Given the description of an element on the screen output the (x, y) to click on. 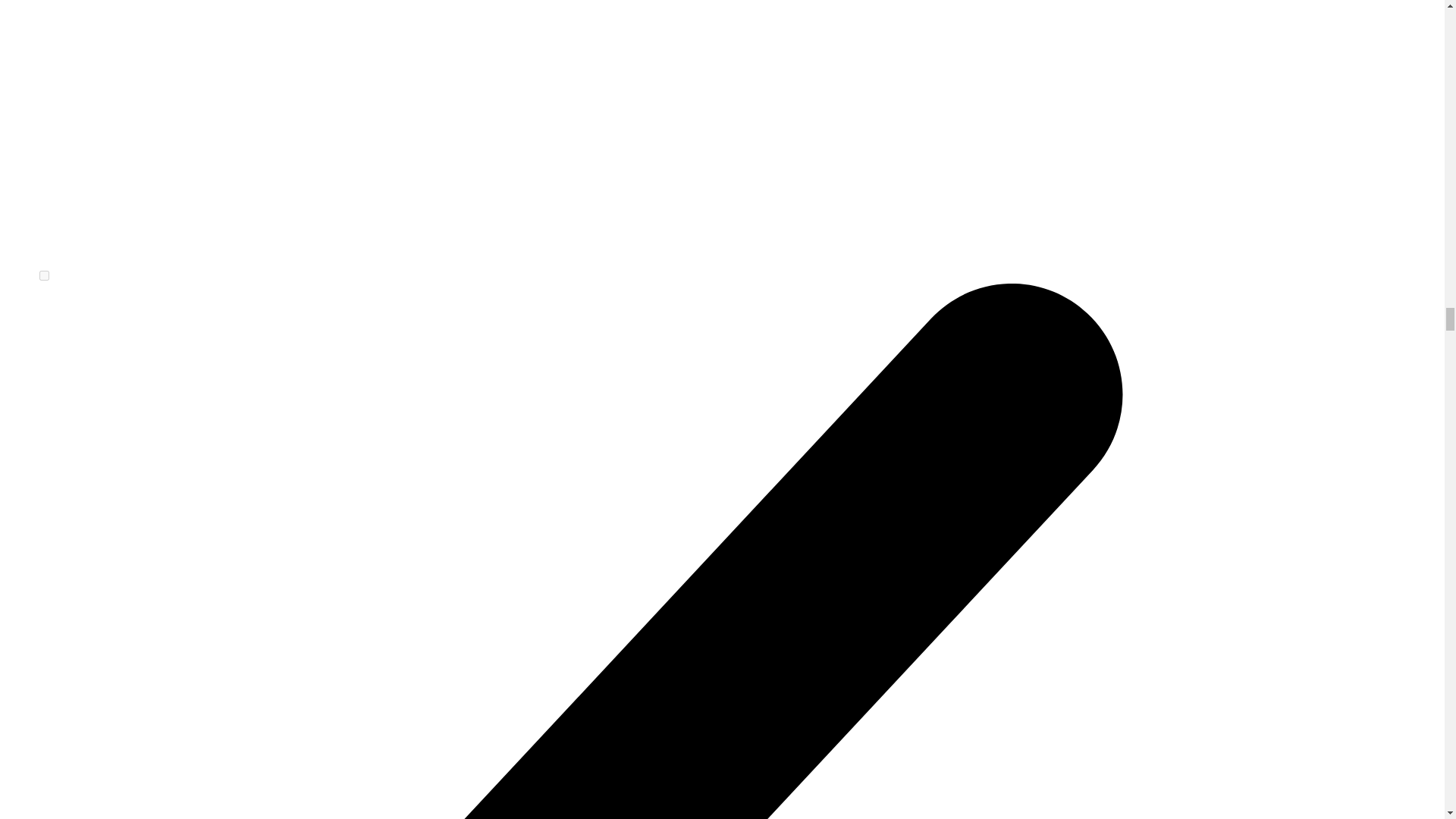
on (44, 275)
